Given the description of an element on the screen output the (x, y) to click on. 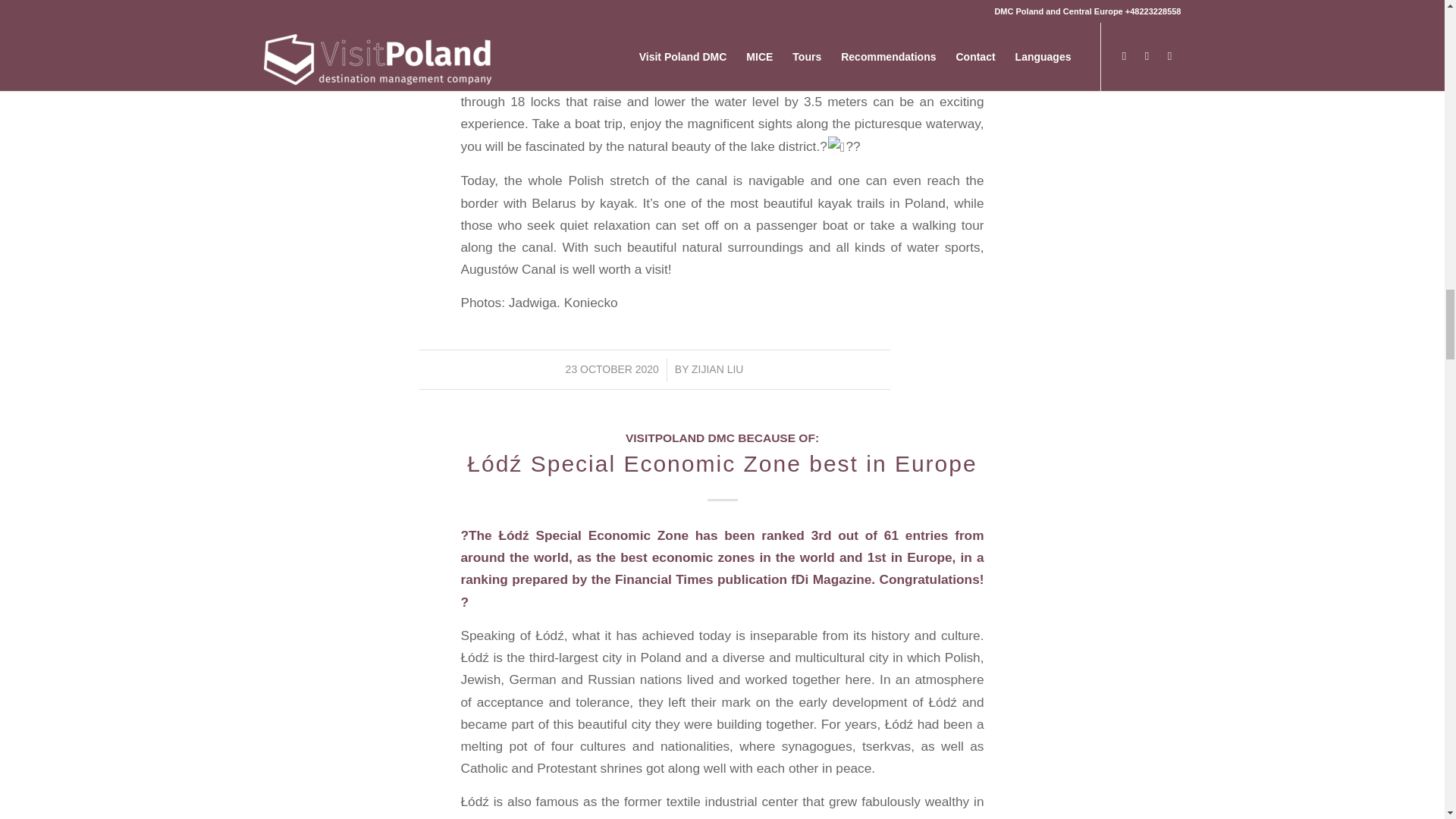
VISITPOLAND DMC BECAUSE OF: (722, 437)
ZIJIAN LIU (716, 369)
Posts by Zijian Liu (716, 369)
